Given the description of an element on the screen output the (x, y) to click on. 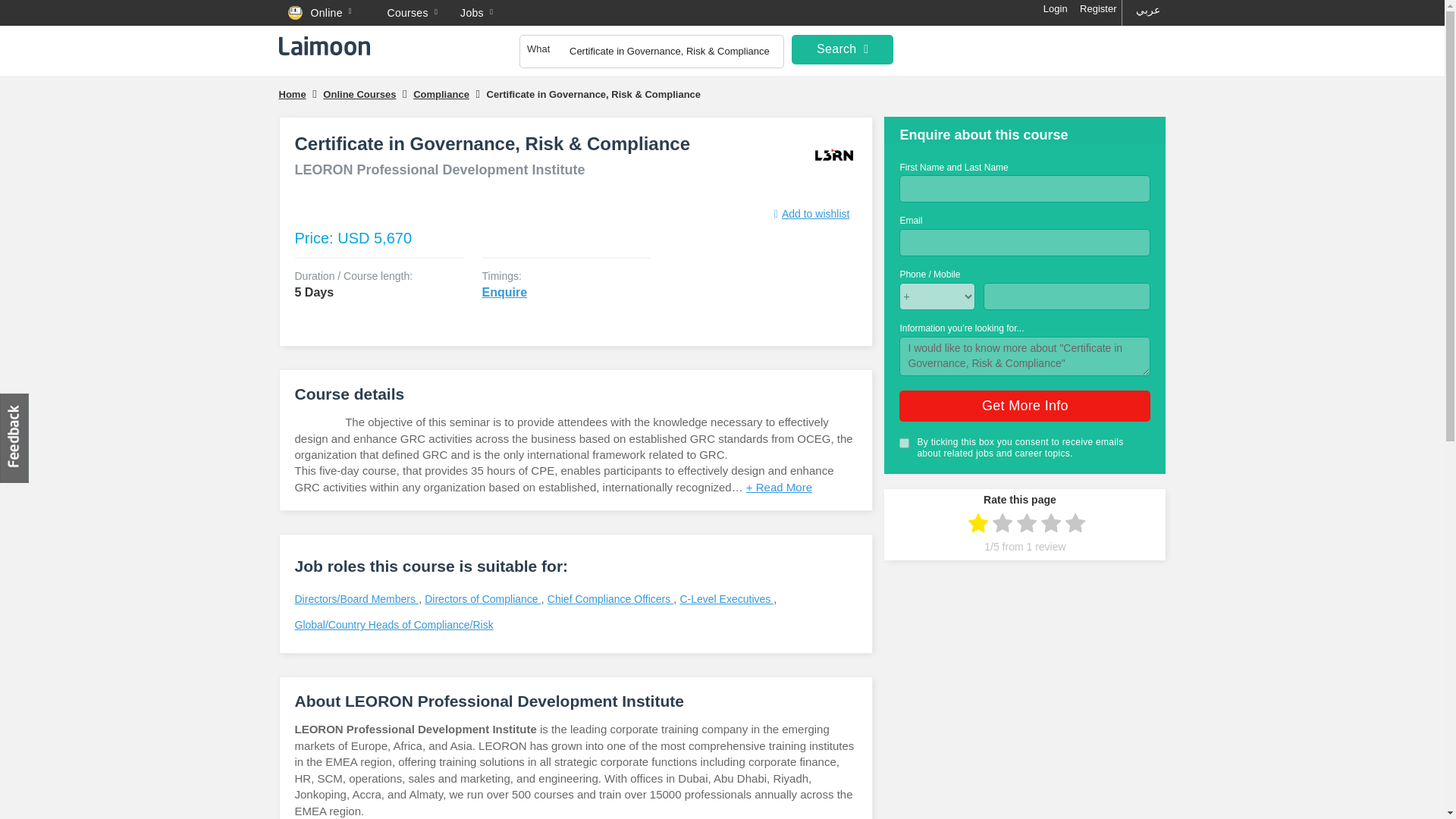
Courses   (423, 14)
Login (1055, 9)
Jobs   (487, 14)
Register (1098, 9)
1 (903, 442)
Register (1098, 9)
Login (1055, 9)
